Given the description of an element on the screen output the (x, y) to click on. 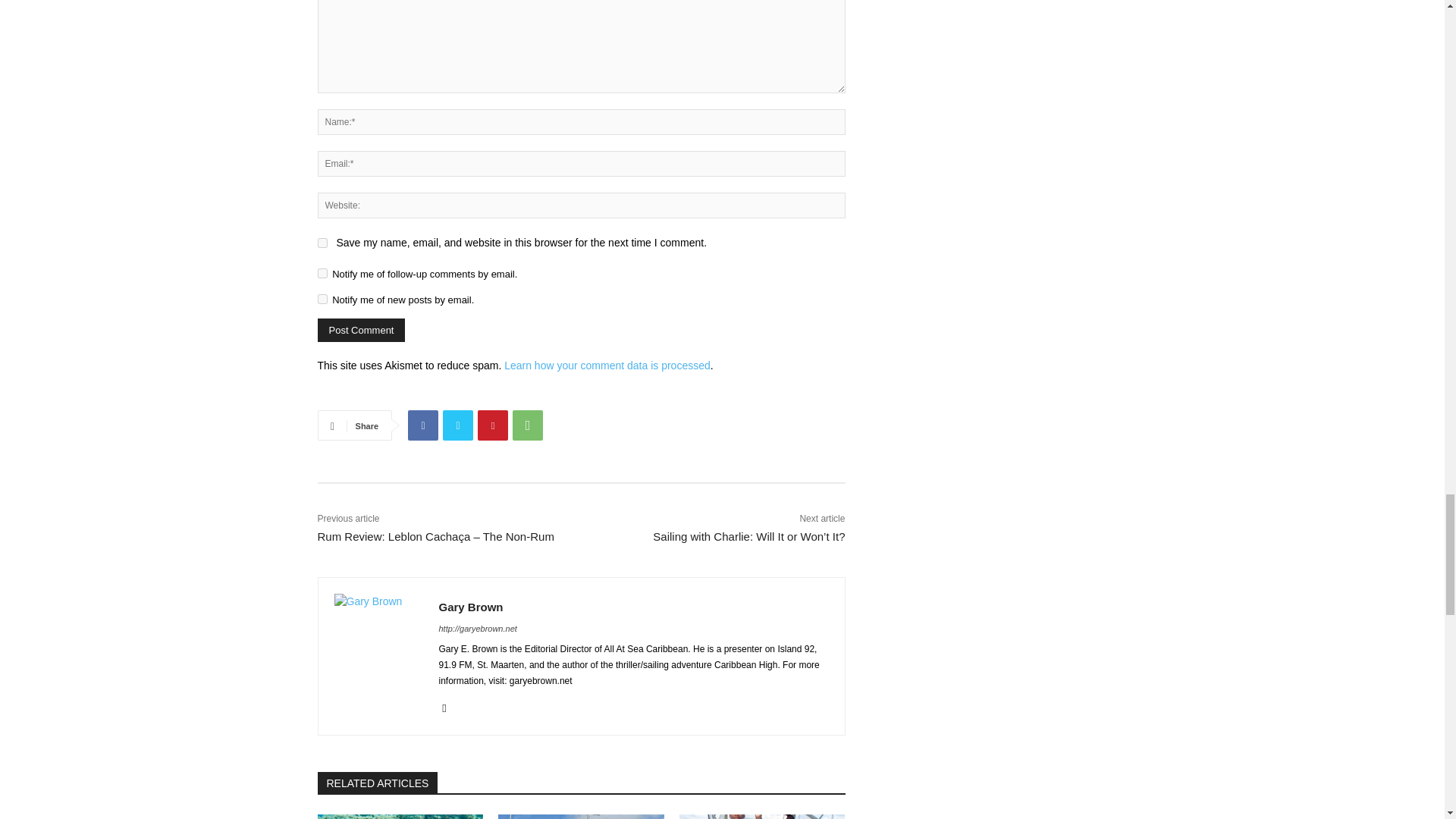
Post Comment (360, 330)
subscribe (321, 273)
yes (321, 243)
subscribe (321, 298)
